Given the description of an element on the screen output the (x, y) to click on. 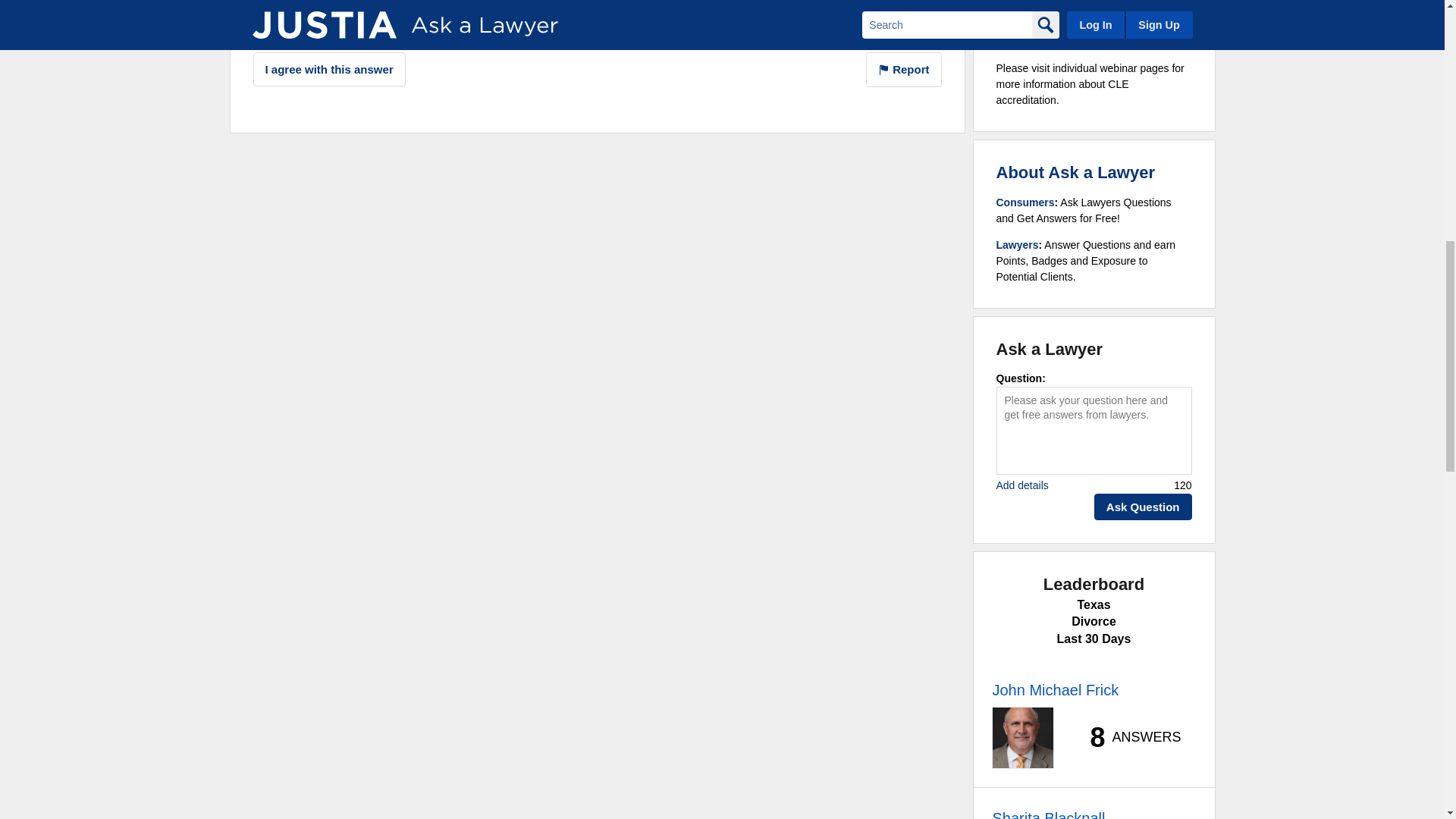
Ask a Lawyer - Leaderboard - Lawyer Name (1048, 812)
Report (904, 69)
Ask a Lawyer - FAQs - Lawyers (1017, 244)
Ask a Lawyer - Leaderboard - Lawyer Stats (1127, 737)
I agree with this answer (329, 69)
Ask a Lawyer - Leaderboard - Lawyer Name (1054, 689)
Ask a Lawyer - FAQs - Consumers (1024, 202)
Ask a Lawyer - Leaderboard - Lawyer Photo (1021, 737)
